Given the description of an element on the screen output the (x, y) to click on. 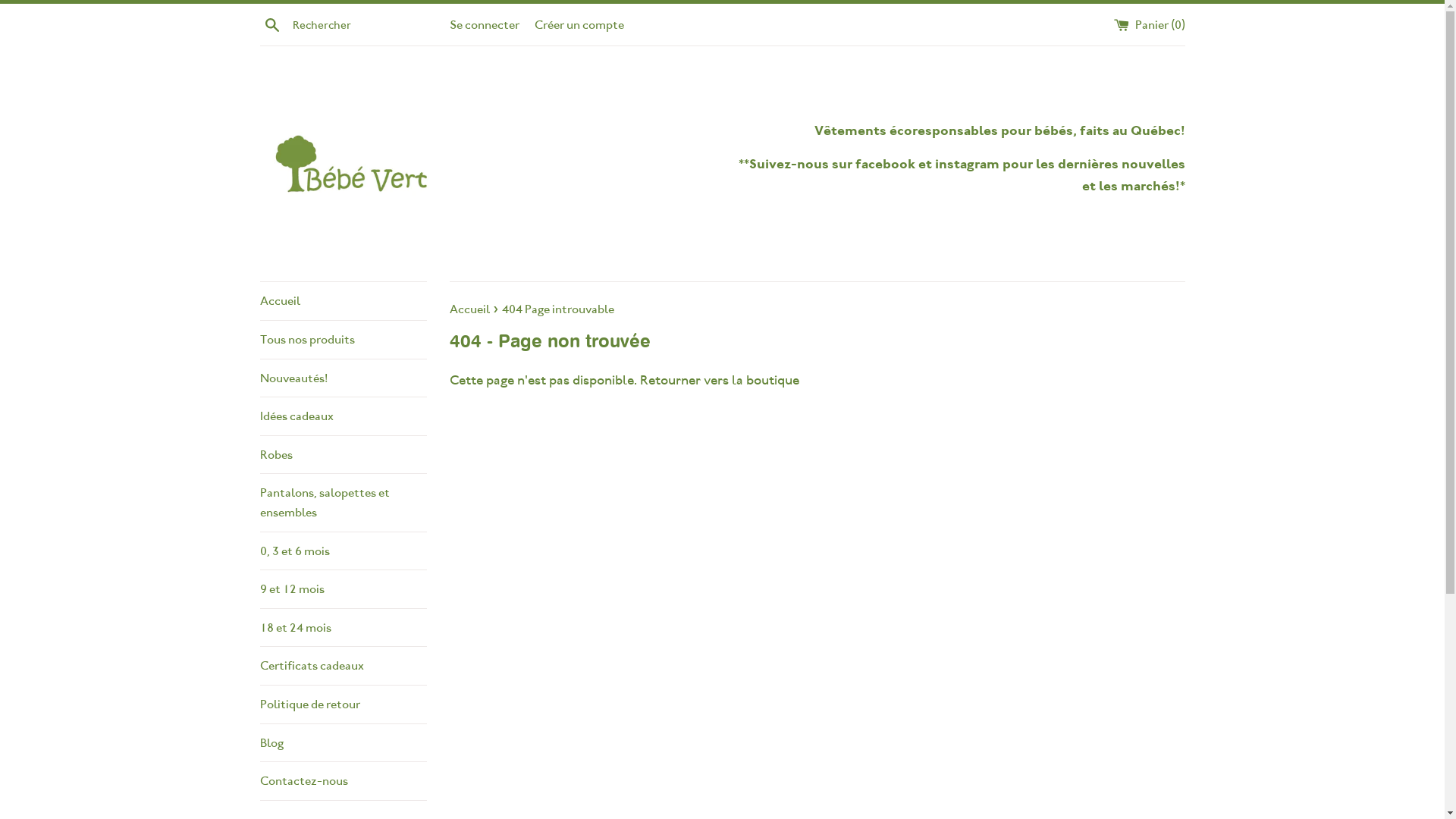
Pantalons, salopettes et ensembles Element type: text (342, 501)
Contactez-nous Element type: text (342, 781)
Politique de retour Element type: text (342, 704)
9 et 12 mois Element type: text (342, 589)
Panier (0) Element type: text (1148, 23)
Retourner vers la boutique Element type: text (719, 379)
Robes Element type: text (342, 454)
Accueil Element type: text (469, 308)
Se connecter Element type: text (483, 23)
Tous nos produits Element type: text (342, 339)
Blog Element type: text (342, 743)
Certificats cadeaux Element type: text (342, 665)
Accueil Element type: text (342, 301)
0, 3 et 6 mois Element type: text (342, 551)
18 et 24 mois Element type: text (342, 627)
Recherche Element type: text (271, 23)
